Given the description of an element on the screen output the (x, y) to click on. 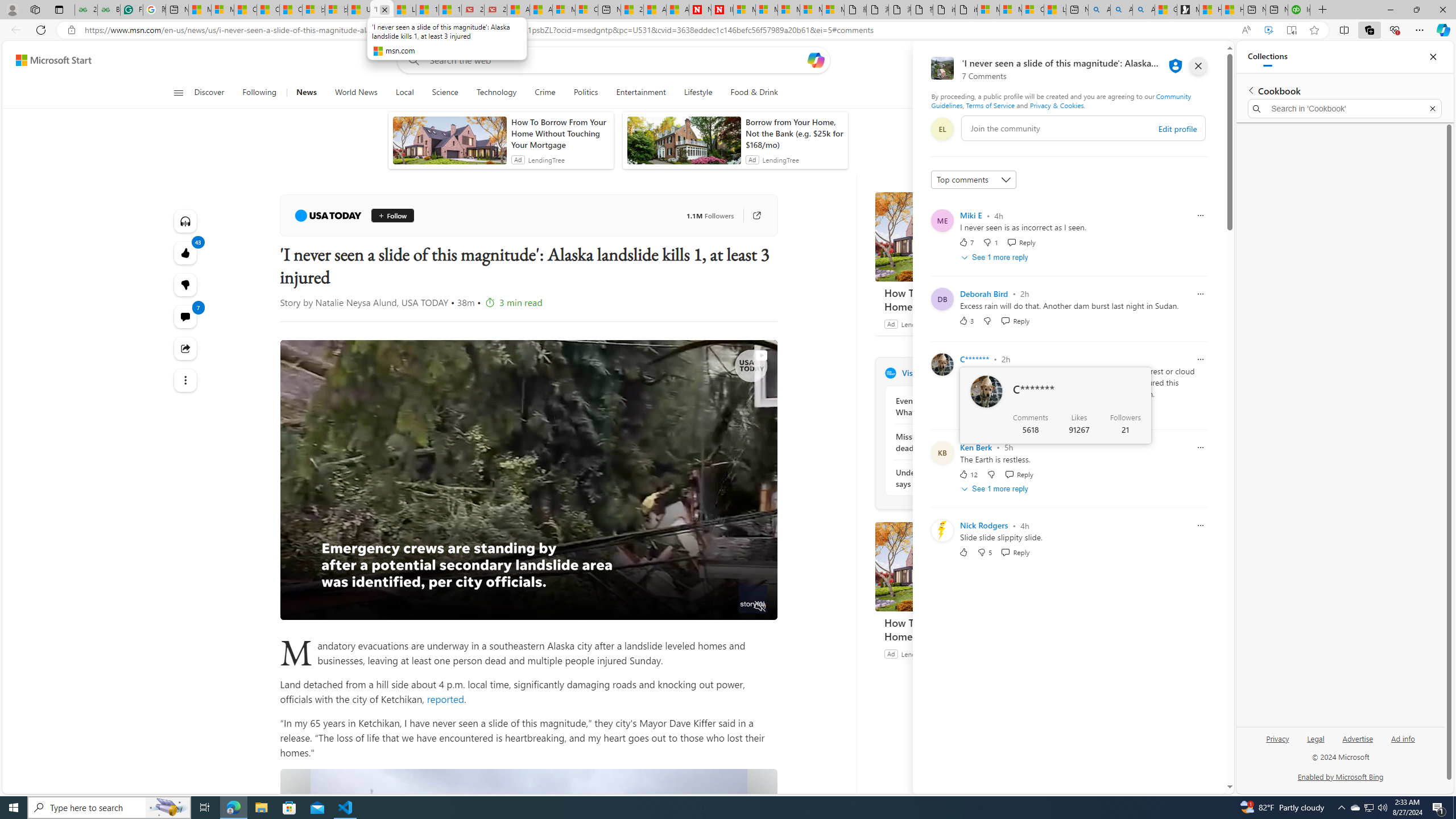
Pause (296, 606)
Ken Berk (975, 446)
Illness news & latest pictures from Newsweek.com (722, 9)
